Given the description of an element on the screen output the (x, y) to click on. 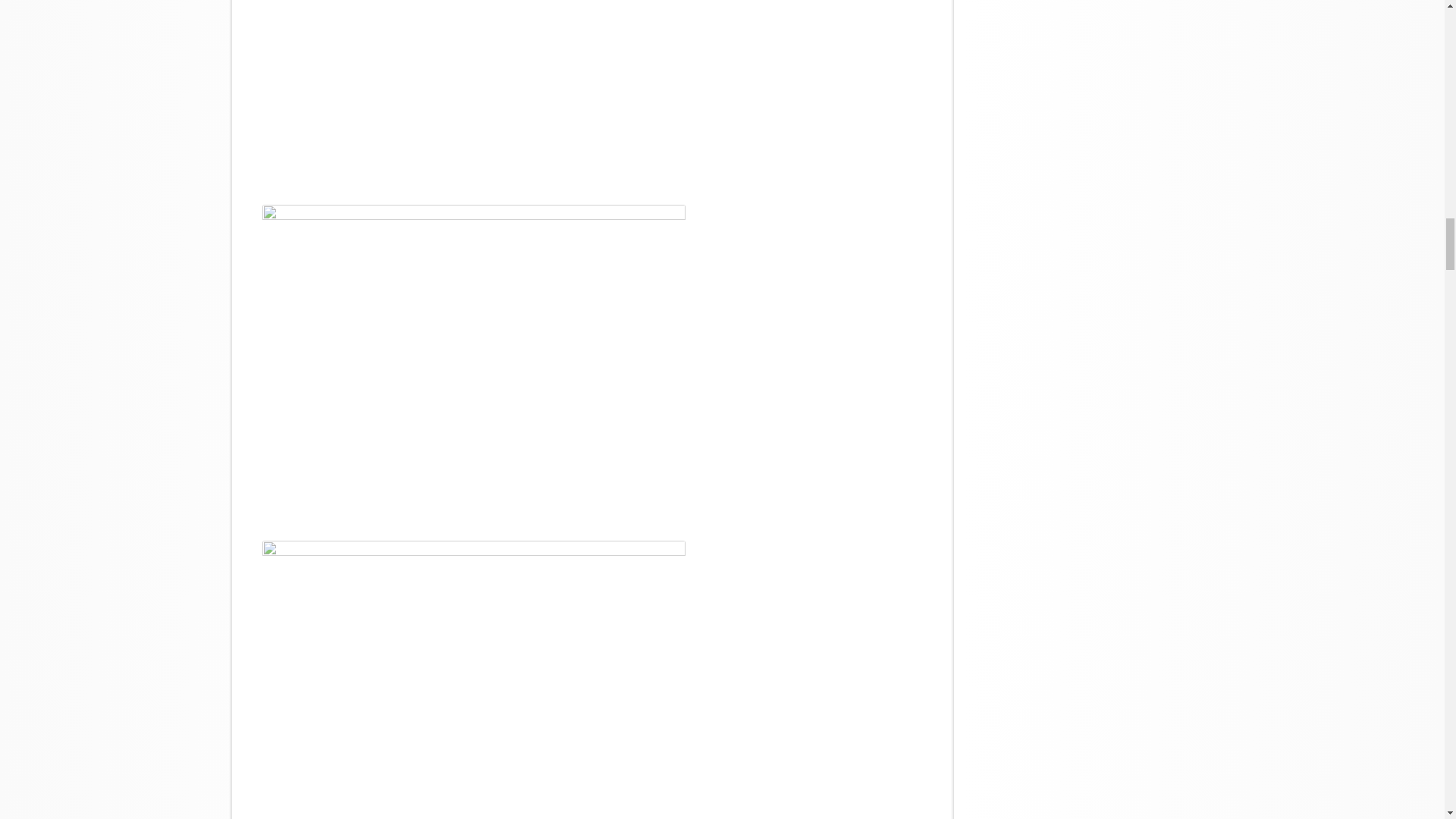
d (471, 92)
f (473, 679)
e (473, 362)
